Given the description of an element on the screen output the (x, y) to click on. 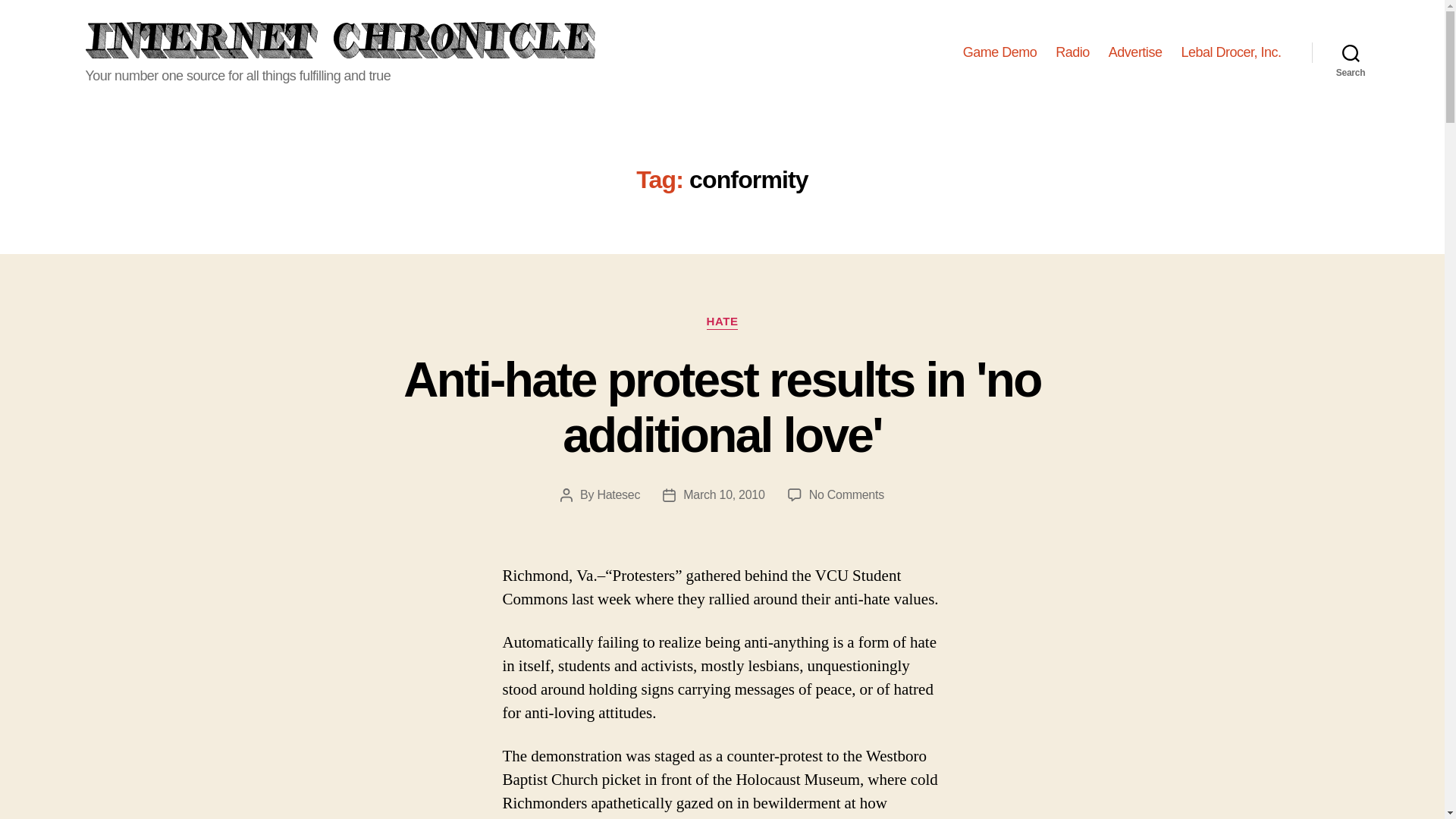
March 10, 2010 (723, 494)
Search (1350, 52)
HATE (722, 322)
Anti-hate protest results in 'no additional love' (722, 407)
Game Demo (999, 53)
Advertise (1134, 53)
Hatesec (618, 494)
Radio (1072, 53)
Lebal Drocer, Inc. (1230, 53)
